Given the description of an element on the screen output the (x, y) to click on. 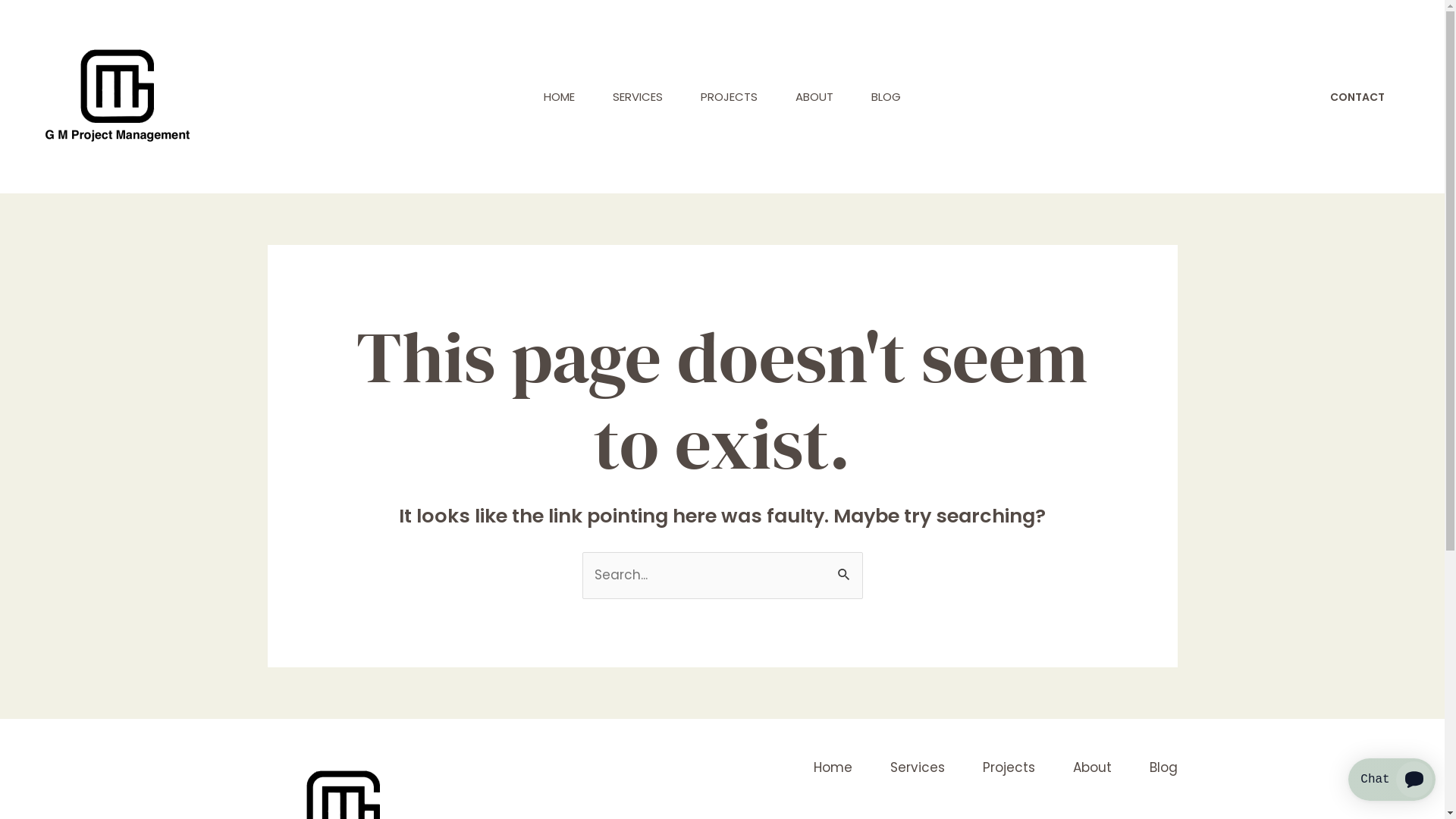
Smartsupp widget button Element type: hover (1391, 779)
BLOG Element type: text (885, 96)
Projects Element type: text (989, 767)
About Element type: text (1072, 767)
Blog Element type: text (1144, 767)
SERVICES Element type: text (637, 96)
Home Element type: text (813, 767)
Services Element type: text (898, 767)
ABOUT Element type: text (814, 96)
PROJECTS Element type: text (728, 96)
CONTACT Element type: text (1356, 96)
Search Element type: text (845, 568)
HOME Element type: text (558, 96)
